Given the description of an element on the screen output the (x, y) to click on. 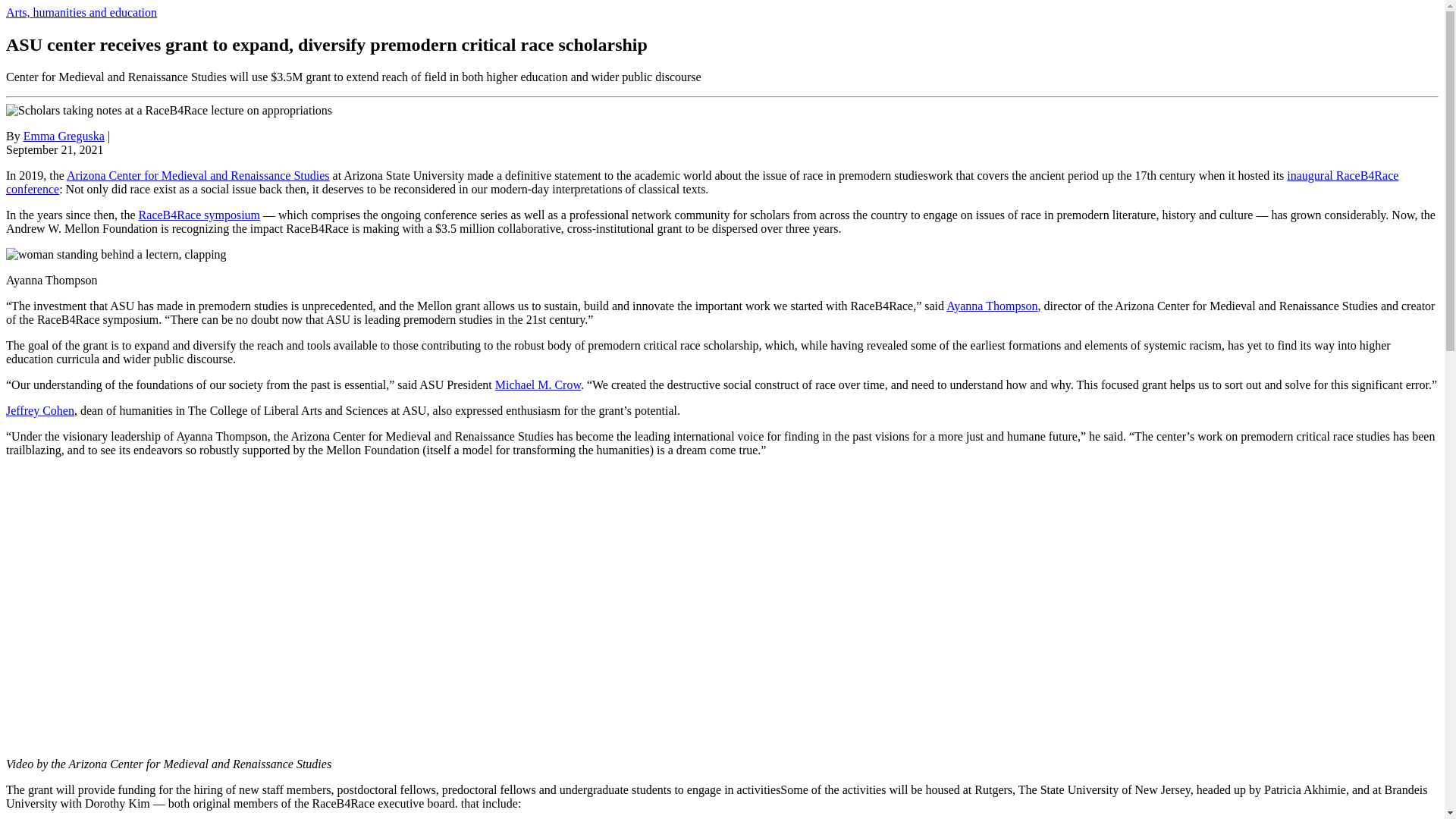
RaceB4Race symposium (199, 214)
Michael M. Crow (537, 384)
Jeffrey Cohen (39, 410)
The Future of RaceB4Race Is You (248, 605)
Arts, humanities and education (81, 11)
Ayanna Thompson (991, 305)
Arizona Center for Medieval and Renaissance Studies (198, 174)
inaugural RaceB4Race conference (701, 181)
Emma Greguska (63, 135)
